Given the description of an element on the screen output the (x, y) to click on. 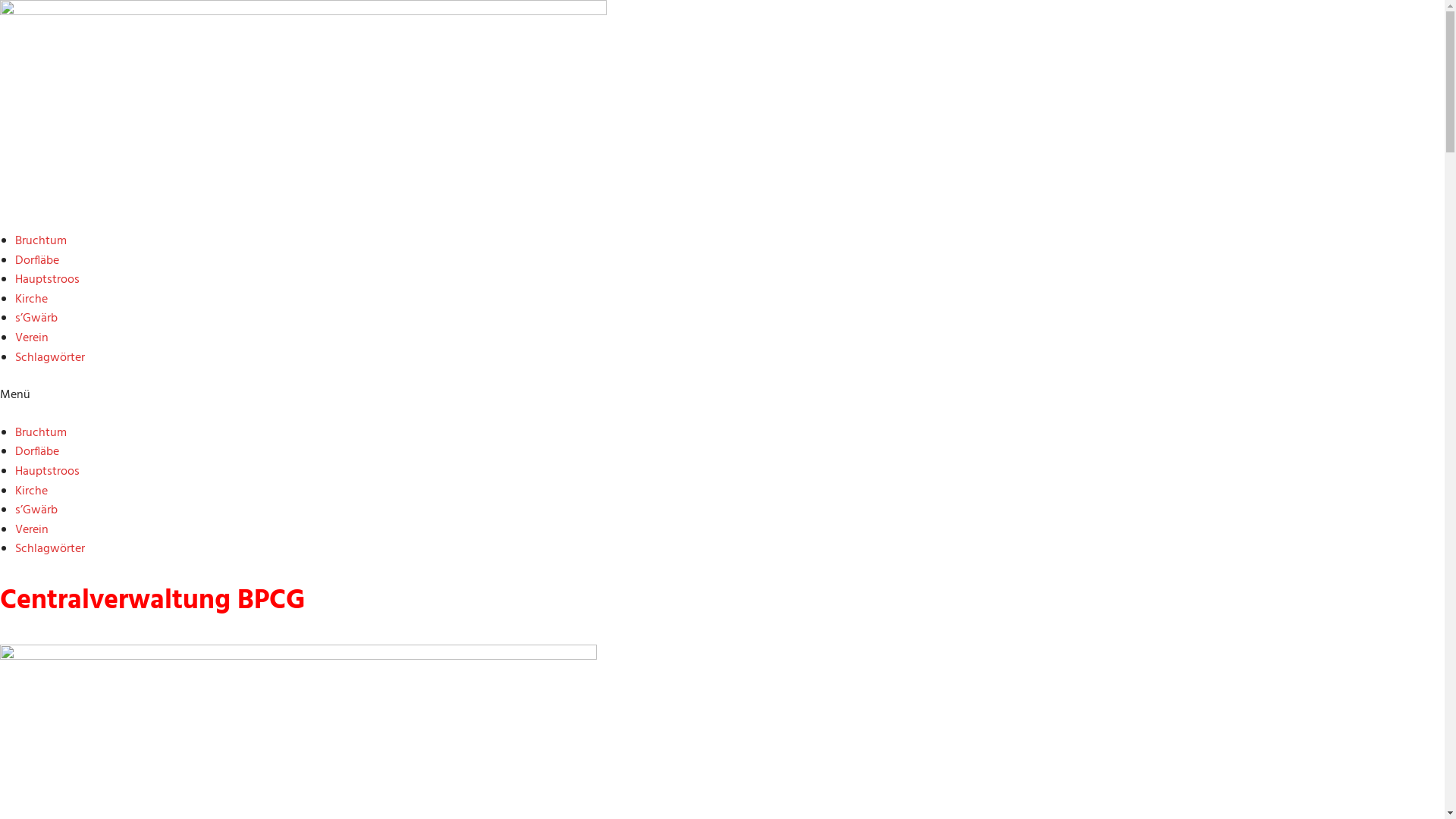
Hauptstroos Element type: text (47, 279)
Verein Element type: text (31, 338)
Bruchtum Element type: text (40, 241)
Hauptstroos Element type: text (47, 471)
Bruchtum Element type: text (40, 432)
Kirche Element type: text (31, 491)
Verein Element type: text (31, 529)
Kirche Element type: text (31, 299)
